Given the description of an element on the screen output the (x, y) to click on. 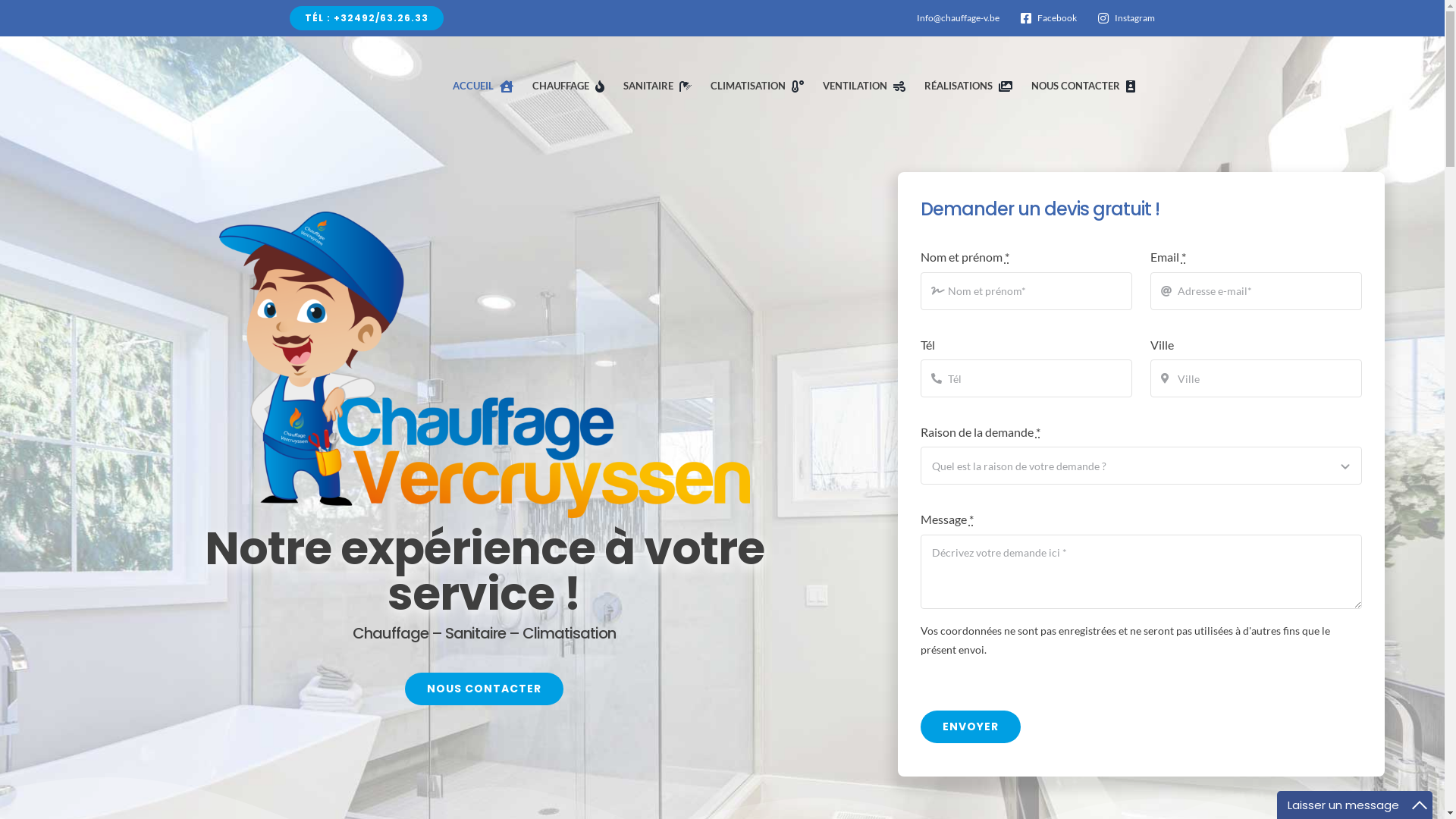
Logo Element type: hover (484, 364)
CLIMATISATION Element type: text (759, 86)
Info@chauffage-v.be Element type: text (957, 18)
SANITAIRE Element type: text (660, 86)
Maximize Element type: hover (1419, 805)
ENVOYER Element type: text (970, 726)
Instagram Element type: text (1123, 18)
Facebook Element type: text (1045, 18)
VENTILATION Element type: text (866, 86)
NOUS CONTACTER Element type: text (483, 688)
ACCUEIL Element type: text (485, 86)
CHAUFFAGE Element type: text (571, 86)
NOUS CONTACTER Element type: text (1086, 86)
